Given the description of an element on the screen output the (x, y) to click on. 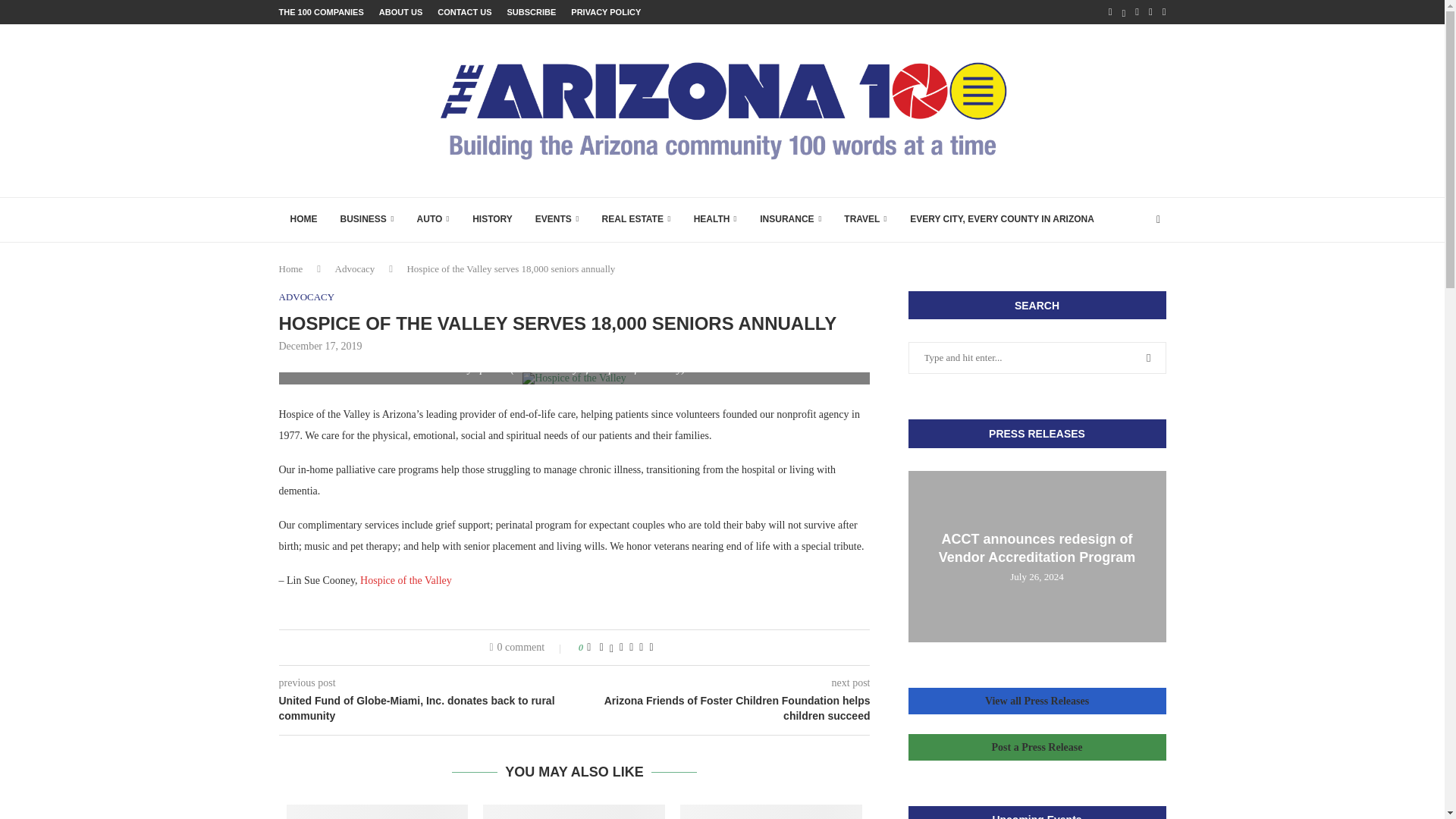
CONTACT US (465, 12)
HOME (304, 219)
THE 100 COMPANIES (321, 12)
BUSINESS (367, 219)
ABOUT US (400, 12)
SUBSCRIBE (531, 12)
PRIVACY POLICY (605, 12)
